Given the description of an element on the screen output the (x, y) to click on. 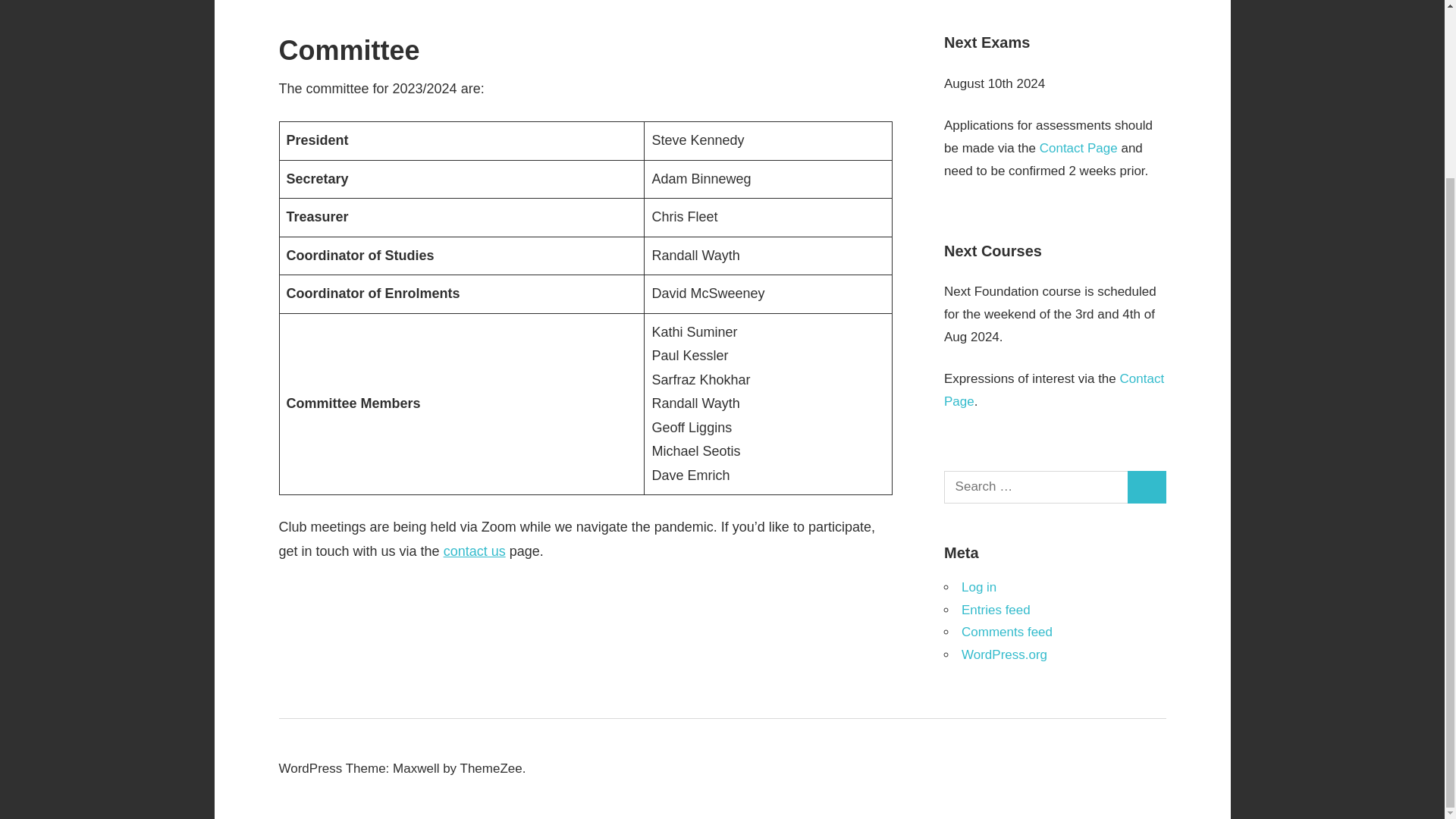
Comments feed (1006, 631)
Log in (977, 586)
contact us (474, 550)
Entries feed (995, 609)
WordPress.org (1003, 654)
Search (1146, 486)
Contact Page (1053, 389)
Contact Page (1078, 147)
Search for: (1035, 486)
